Given the description of an element on the screen output the (x, y) to click on. 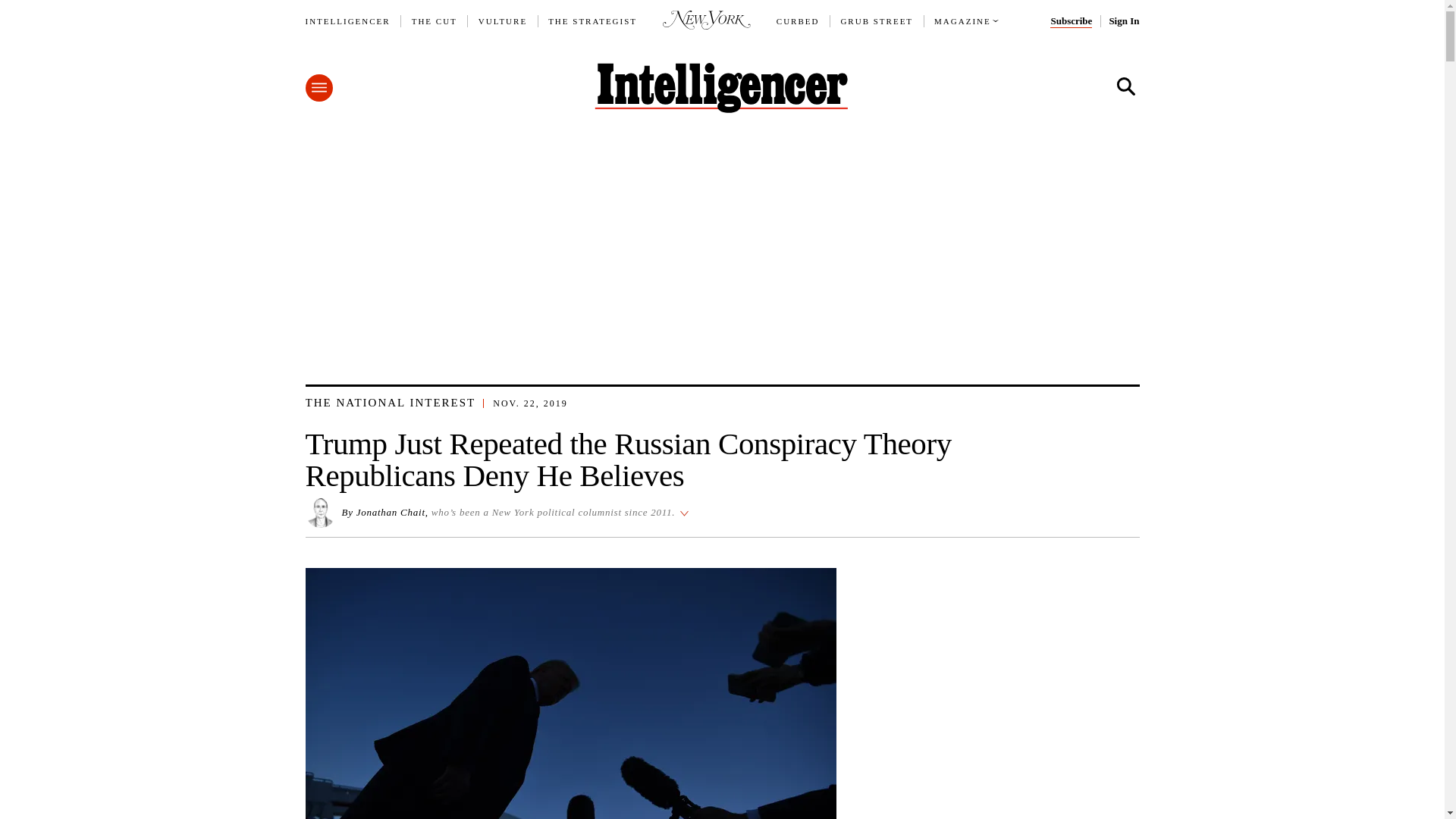
Menu (317, 87)
Search (1124, 86)
MAGAZINE (962, 21)
THE STRATEGIST (592, 21)
CURBED (797, 21)
INTELLIGENCER (347, 21)
Search (1124, 86)
Subscribe (1070, 21)
Sign In (1123, 21)
GRUB STREET (876, 21)
